Given the description of an element on the screen output the (x, y) to click on. 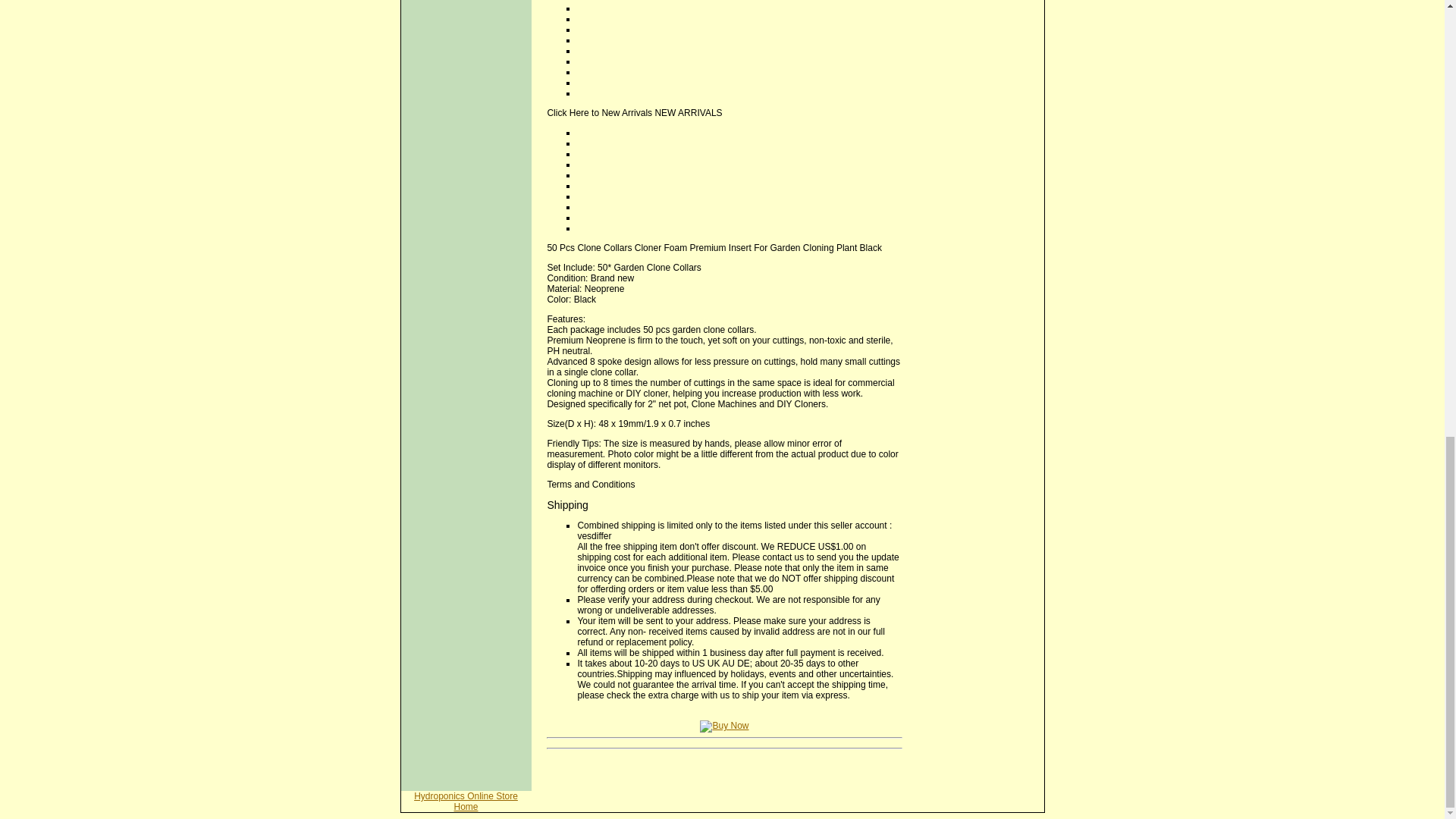
Hydroponics Online Store Home (465, 801)
Buy Now (724, 726)
